Given the description of an element on the screen output the (x, y) to click on. 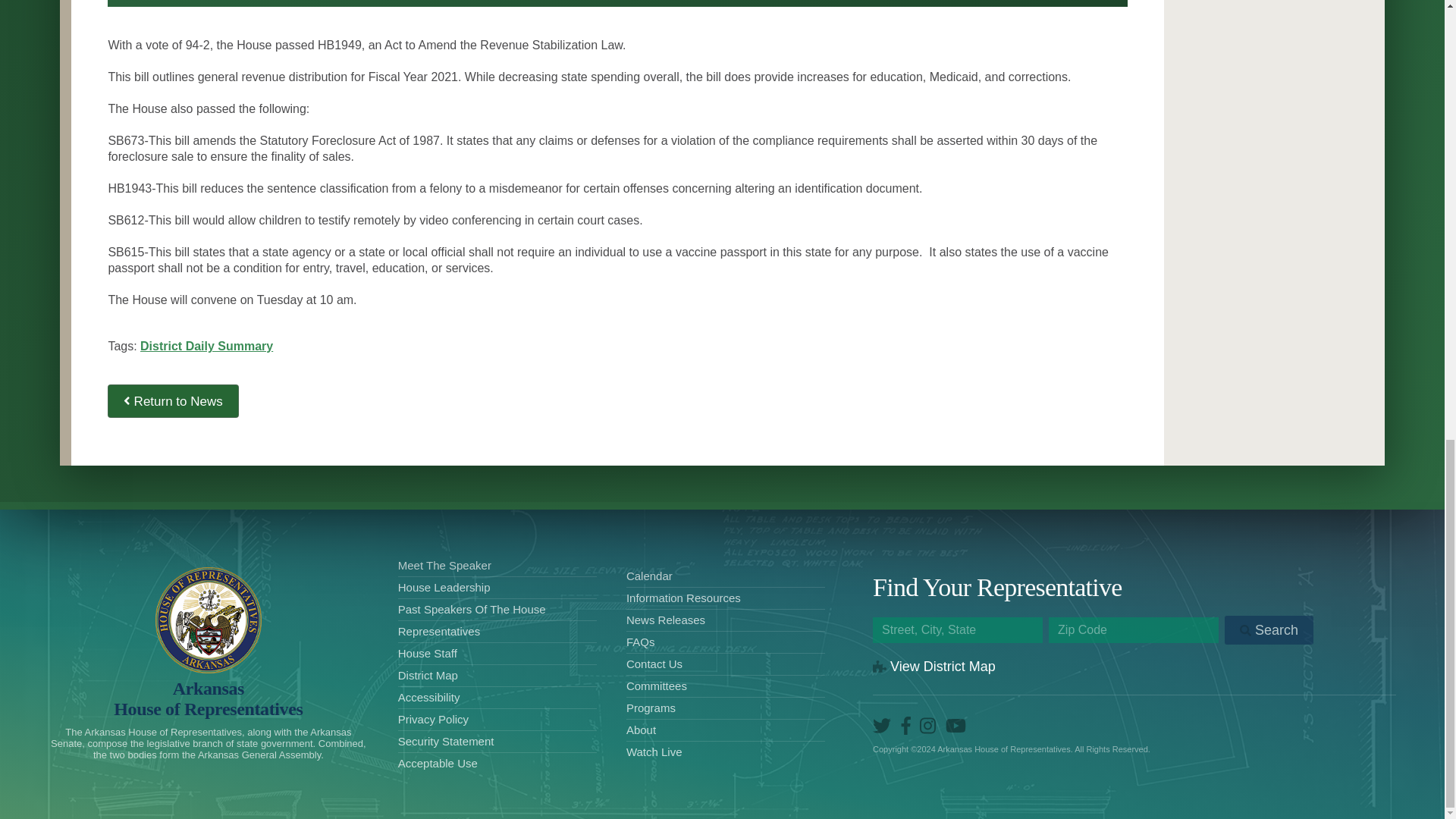
View District Map (933, 666)
Back to News (172, 400)
District Daily Summary (206, 345)
Return to News (207, 698)
